Given the description of an element on the screen output the (x, y) to click on. 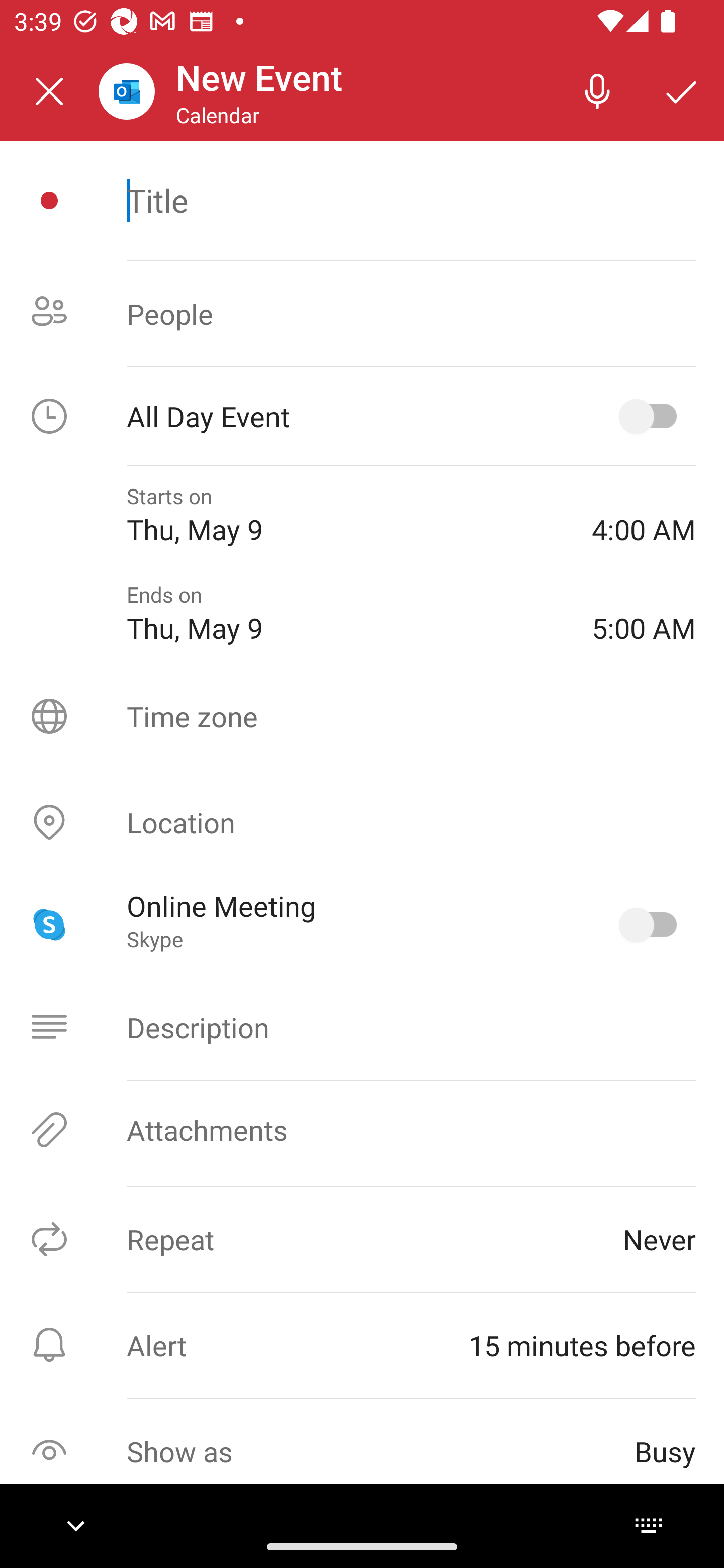
Close (49, 91)
Save (681, 90)
Title (410, 200)
Event icon picker (48, 200)
People (362, 313)
All Day Event (362, 415)
Starts on Thu, May 9 (344, 514)
4:00 AM (643, 514)
Ends on Thu, May 9 (344, 613)
5:00 AM (643, 613)
Time zone (362, 715)
Location (362, 821)
Online Meeting, Skype selected (651, 923)
Description (362, 1026)
Attachments (362, 1129)
Repeat Never (362, 1239)
Alert ⁨15 minutes before (362, 1345)
Show as Busy (362, 1450)
